Given the description of an element on the screen output the (x, y) to click on. 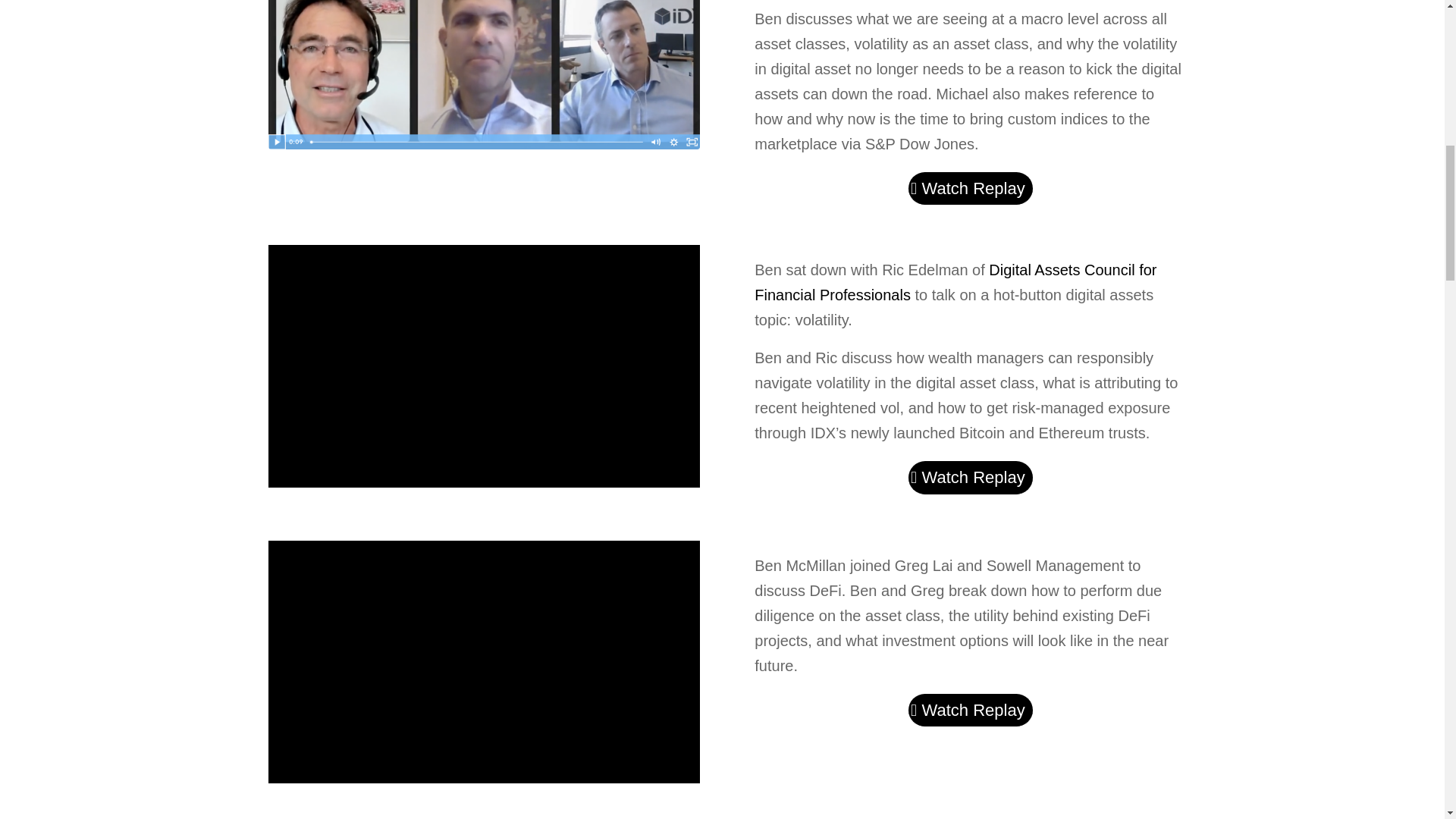
Screen Shot 2021-09-27 at 1.53.24 PM (483, 74)
DeFi Demystified (483, 661)
Watch Replay (970, 709)
Digital Assets Council for Financial Professionals (955, 282)
IDX Volatility Webinar - June 28, 2021 (483, 365)
Watch Replay (970, 477)
Watch Replay (970, 187)
